Given the description of an element on the screen output the (x, y) to click on. 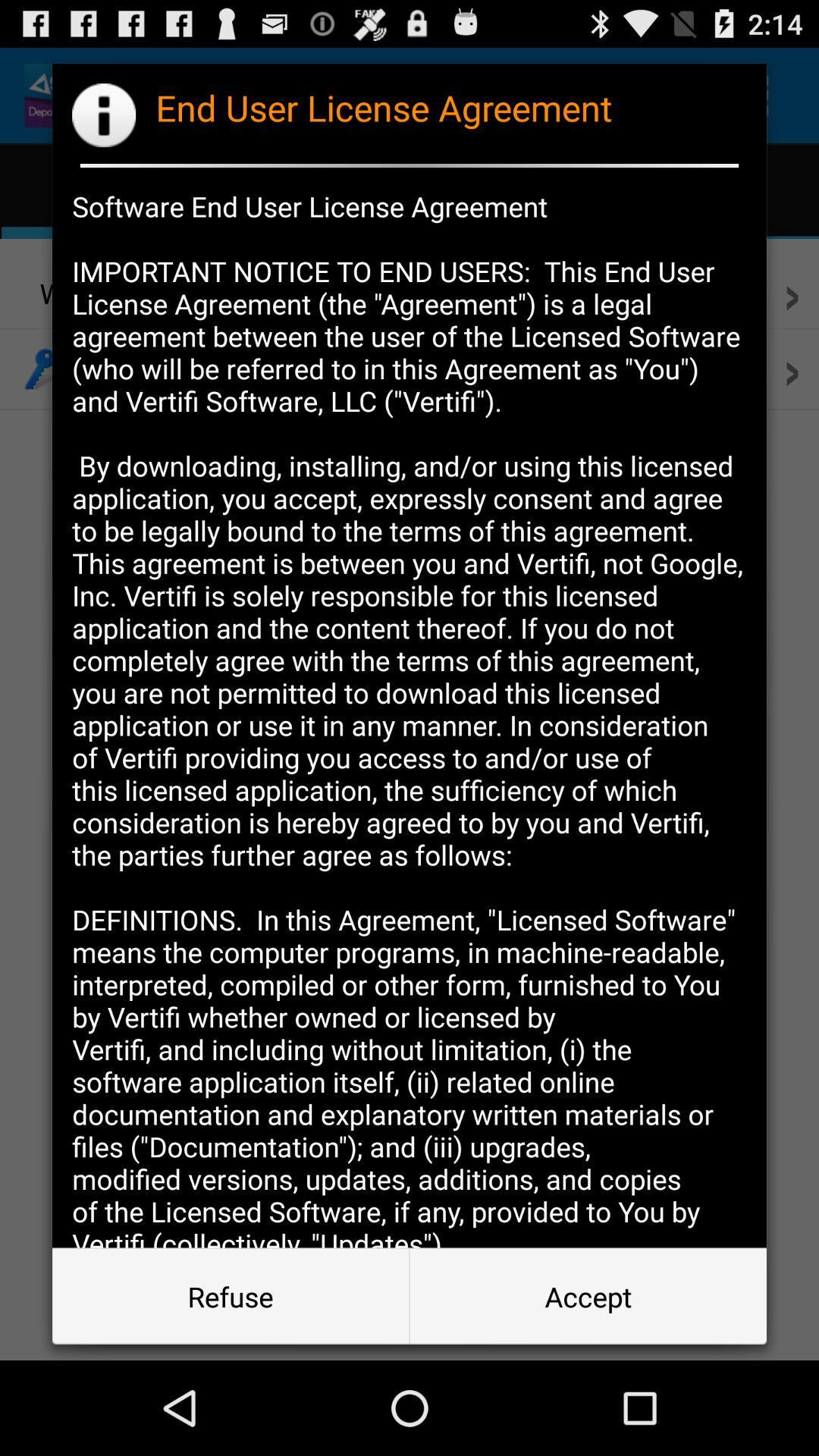
turn off icon to the right of the refuse icon (588, 1296)
